Given the description of an element on the screen output the (x, y) to click on. 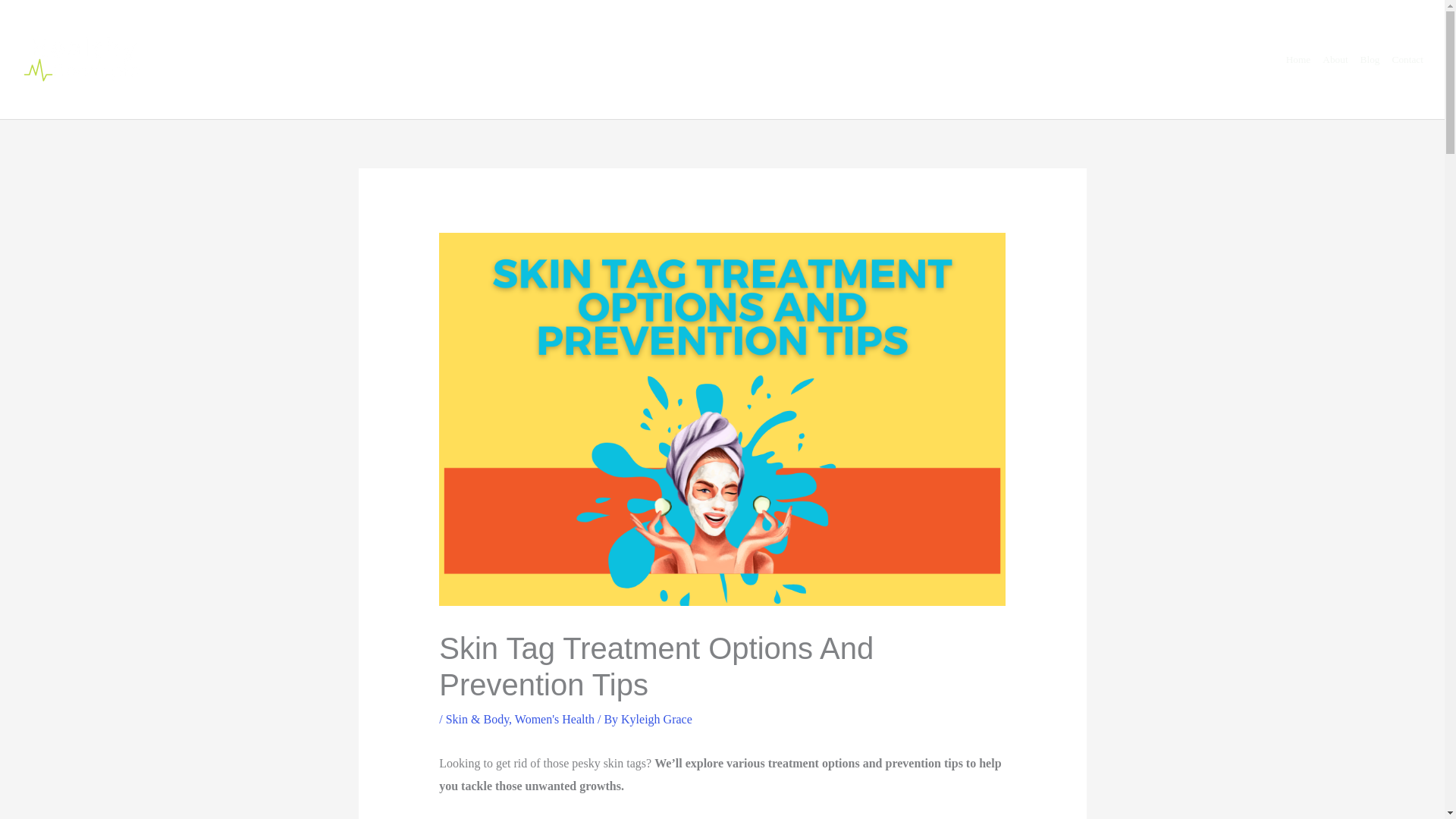
View all posts by Kyleigh Grace (657, 718)
Kyleigh Grace (657, 718)
Women's Health (554, 718)
